Given the description of an element on the screen output the (x, y) to click on. 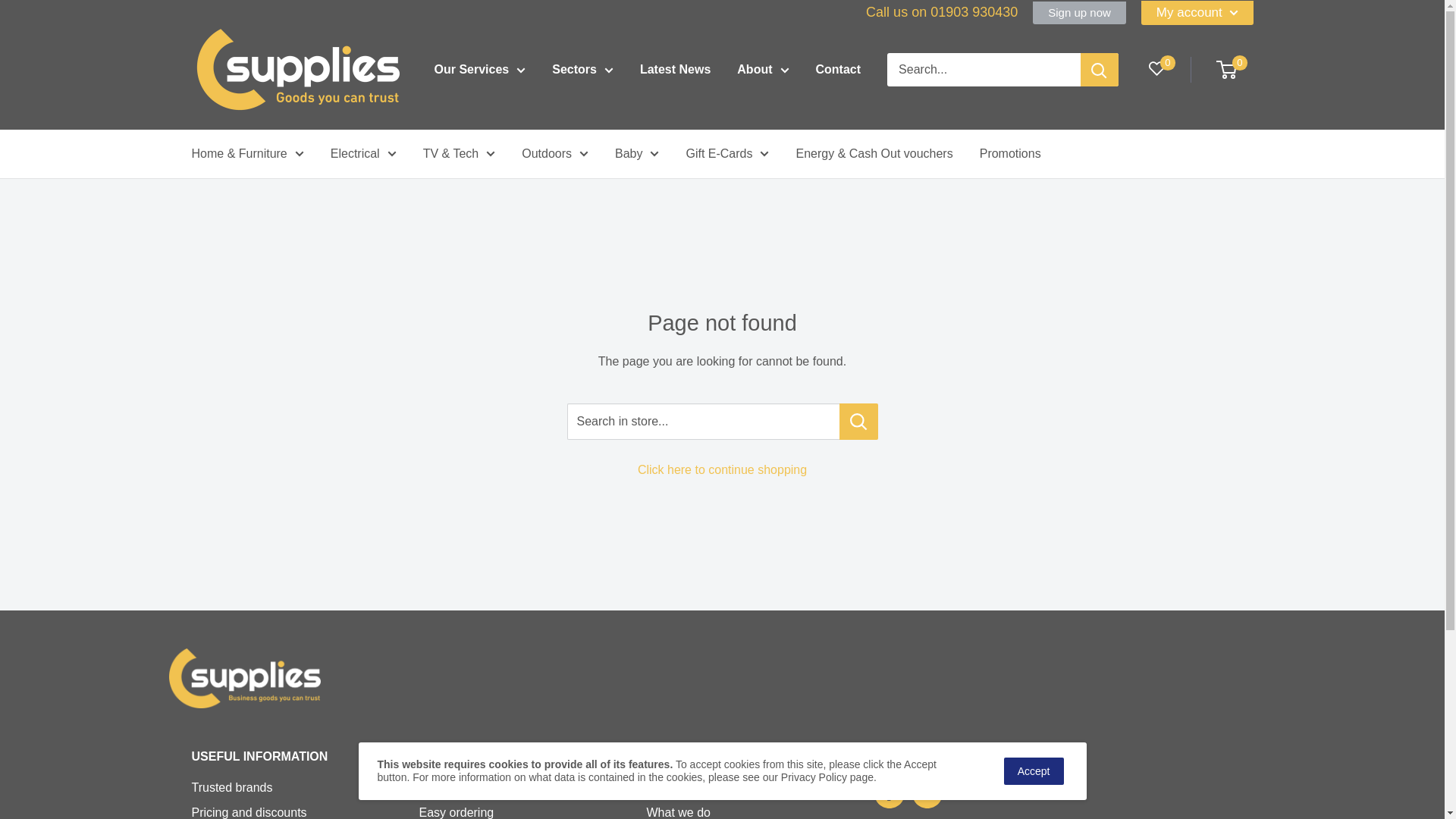
01903 930430 (973, 11)
My account (1197, 12)
Sign up now (1078, 12)
